Given the description of an element on the screen output the (x, y) to click on. 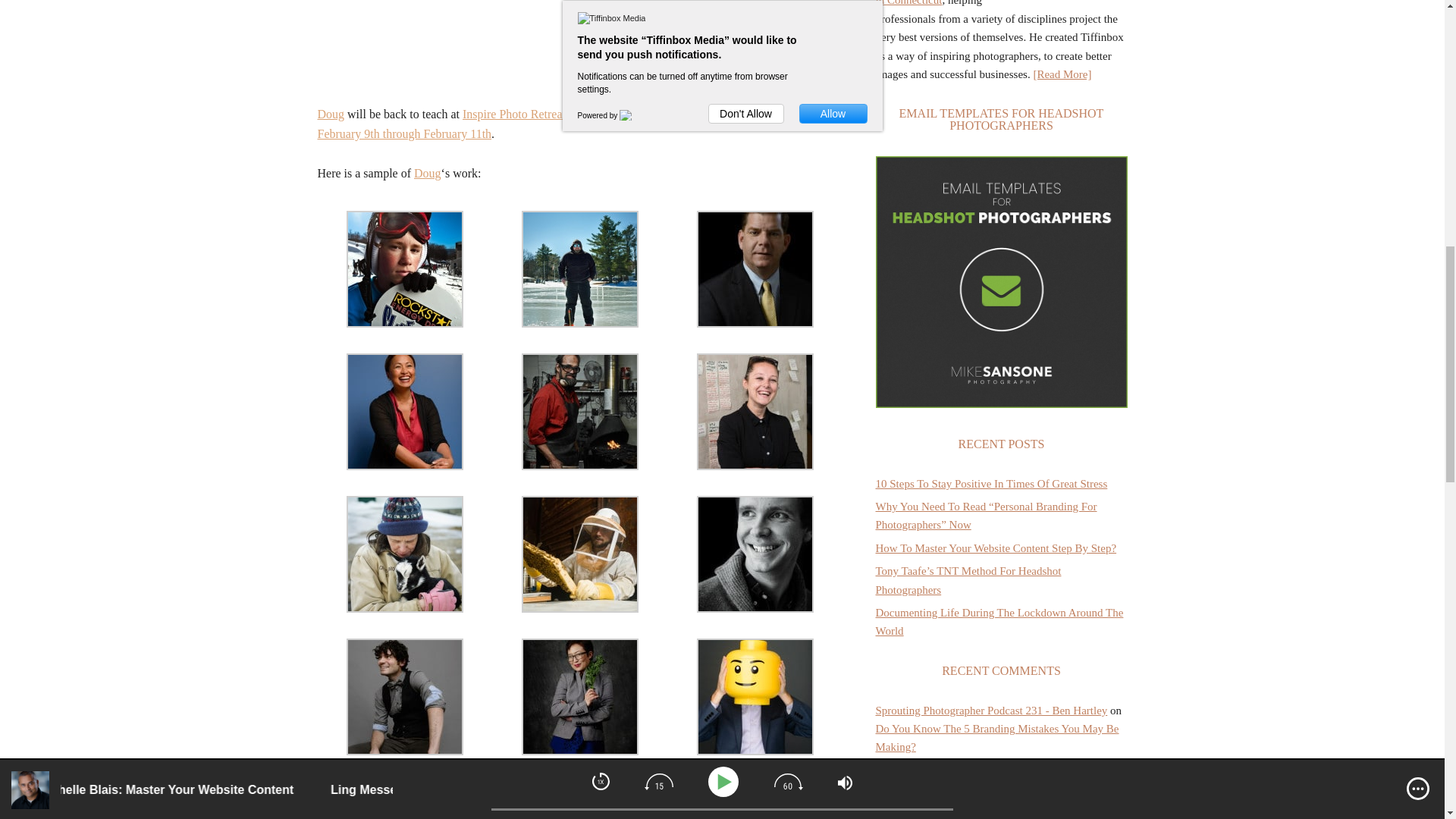
Doug (330, 113)
Doug (427, 173)
from February 9th through February 11th (575, 123)
Inspire Photo Retreats (516, 113)
